Given the description of an element on the screen output the (x, y) to click on. 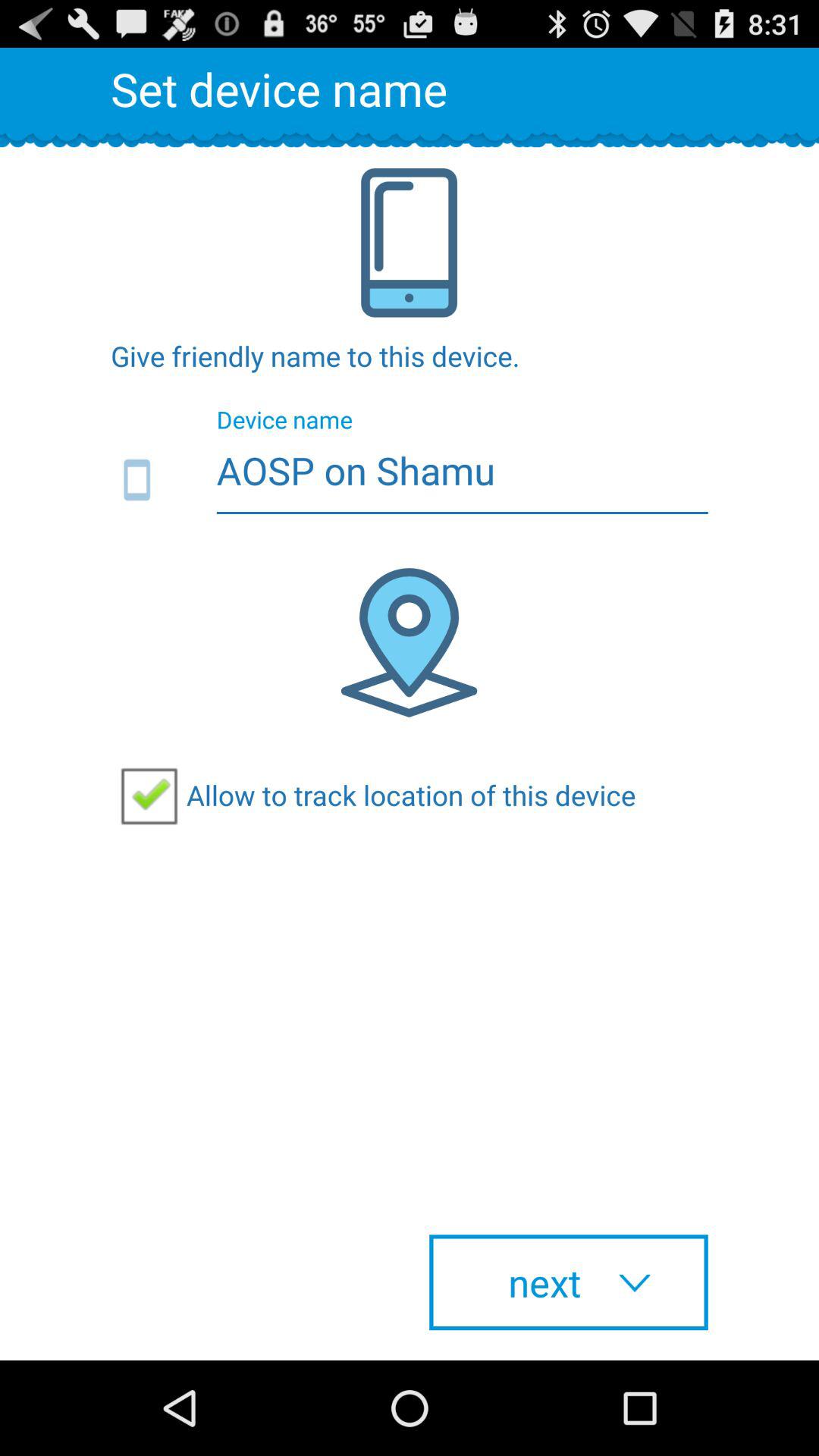
press the next (568, 1282)
